Given the description of an element on the screen output the (x, y) to click on. 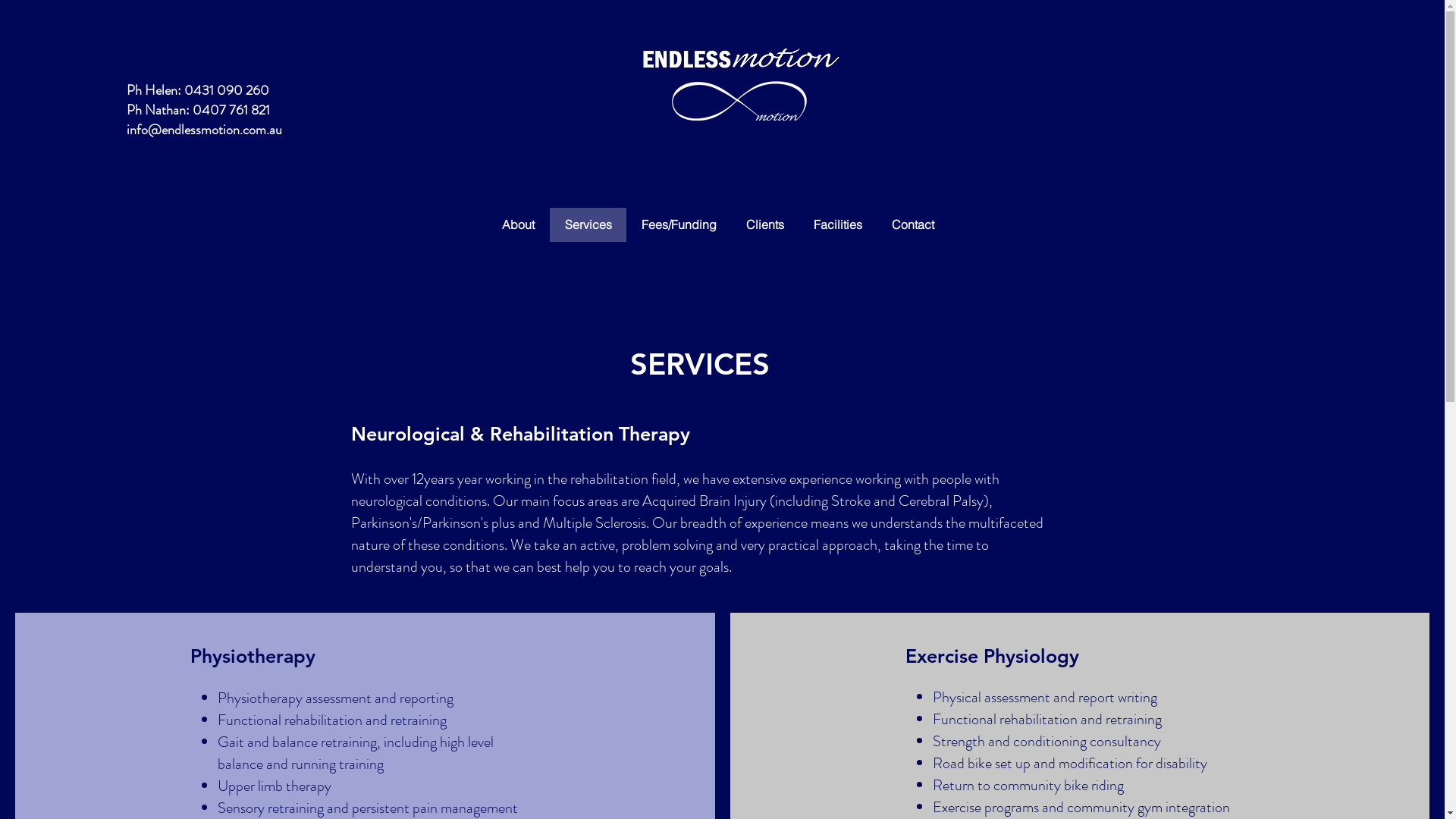
Ph Helen: Element type: text (155, 90)
Facilities Element type: text (836, 224)
About Element type: text (517, 224)
Contact Element type: text (912, 224)
Services Element type: text (587, 224)
Clients Element type: text (764, 224)
Fees/Funding Element type: text (678, 224)
0431 090 260  Element type: text (228, 90)
info@endlessmotion.com.au Element type: text (204, 129)
